Given the description of an element on the screen output the (x, y) to click on. 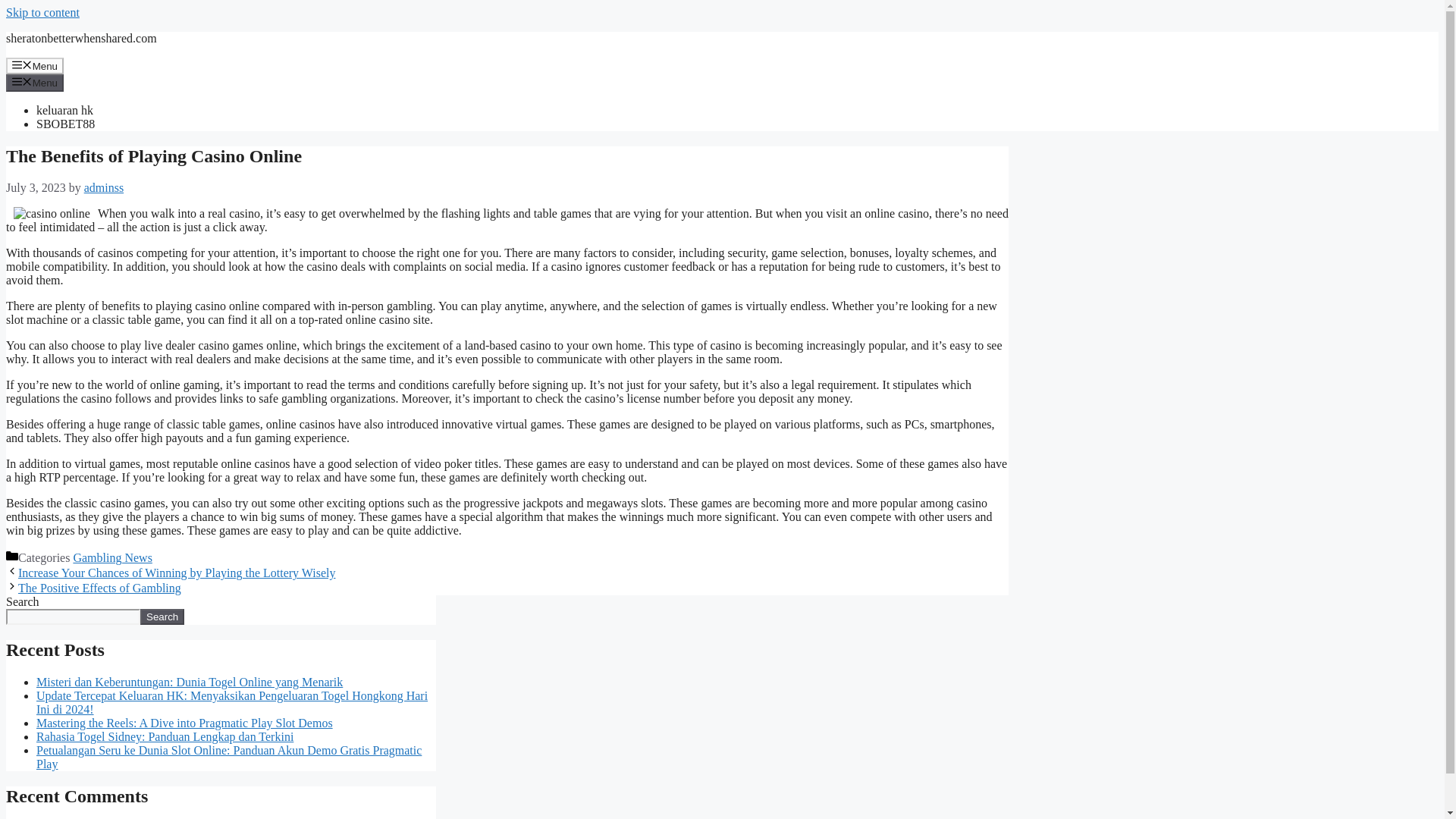
View all posts by adminss (103, 187)
adminss (103, 187)
Skip to content (42, 11)
Skip to content (42, 11)
keluaran hk (64, 110)
sheratonbetterwhenshared.com (81, 38)
Search (161, 616)
Misteri dan Keberuntungan: Dunia Togel Online yang Menarik (189, 681)
The Positive Effects of Gambling (98, 587)
Menu (34, 82)
Rahasia Togel Sidney: Panduan Lengkap dan Terkini (165, 736)
Gambling News (111, 557)
